Given the description of an element on the screen output the (x, y) to click on. 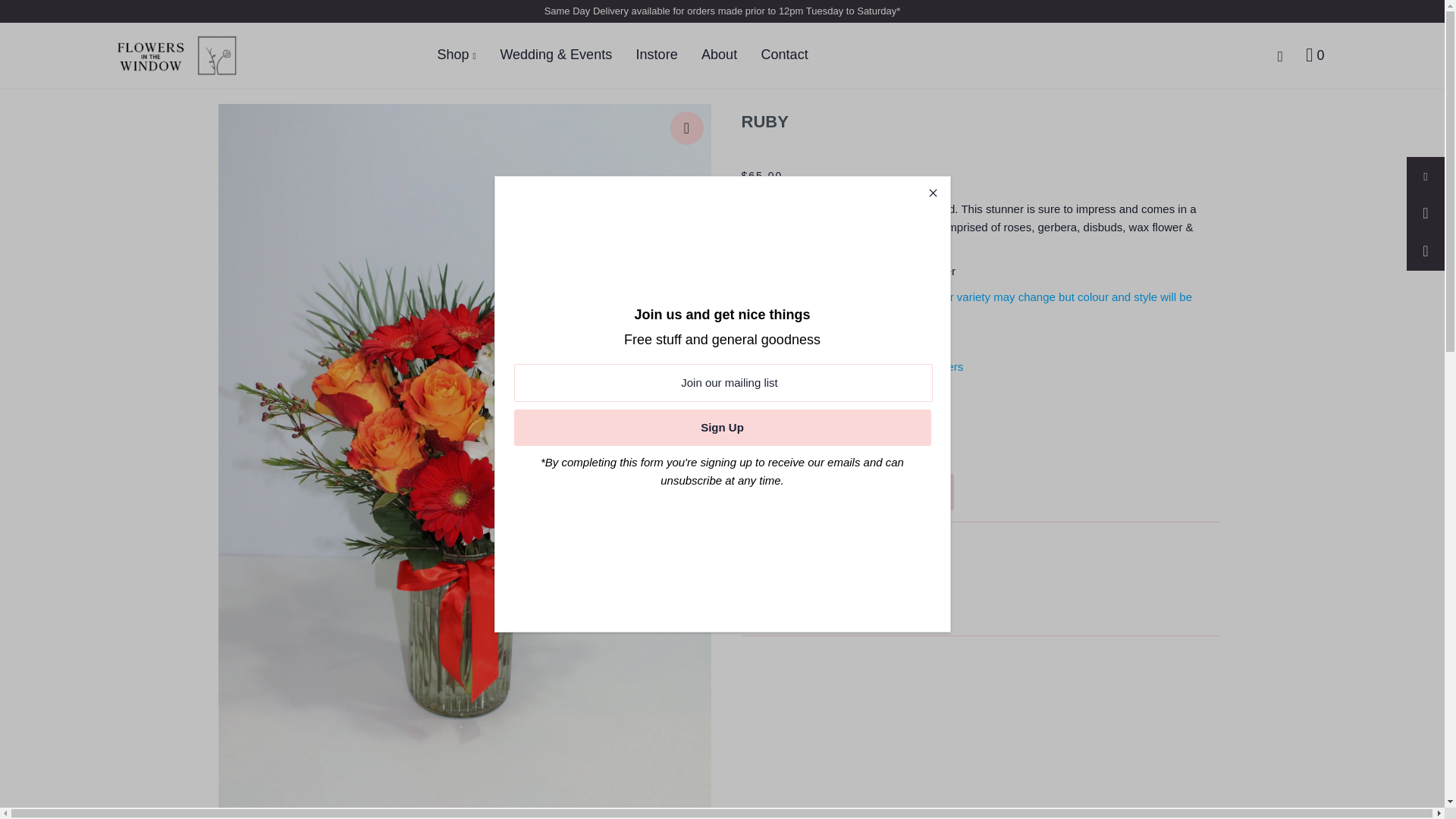
Share on Pinterest (1425, 250)
1 (810, 424)
- (762, 424)
Share on Facebook (1425, 175)
About (729, 54)
Shop (466, 54)
Instore (667, 54)
Contact (794, 54)
Sign Up (722, 427)
Add to Cart (847, 491)
More gift options (783, 451)
Share on Twitter (1425, 212)
